Given the description of an element on the screen output the (x, y) to click on. 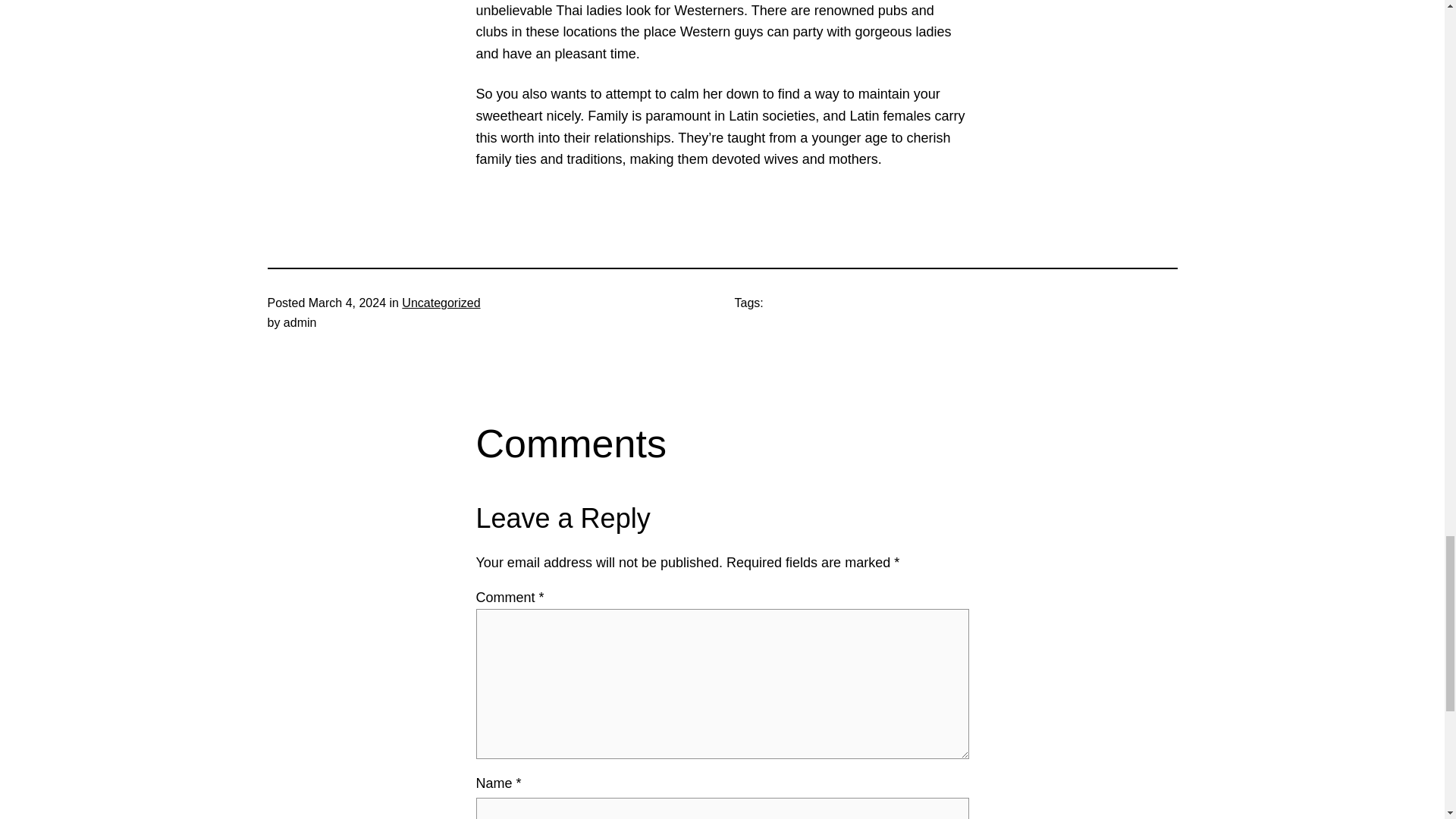
Uncategorized (440, 302)
